Given the description of an element on the screen output the (x, y) to click on. 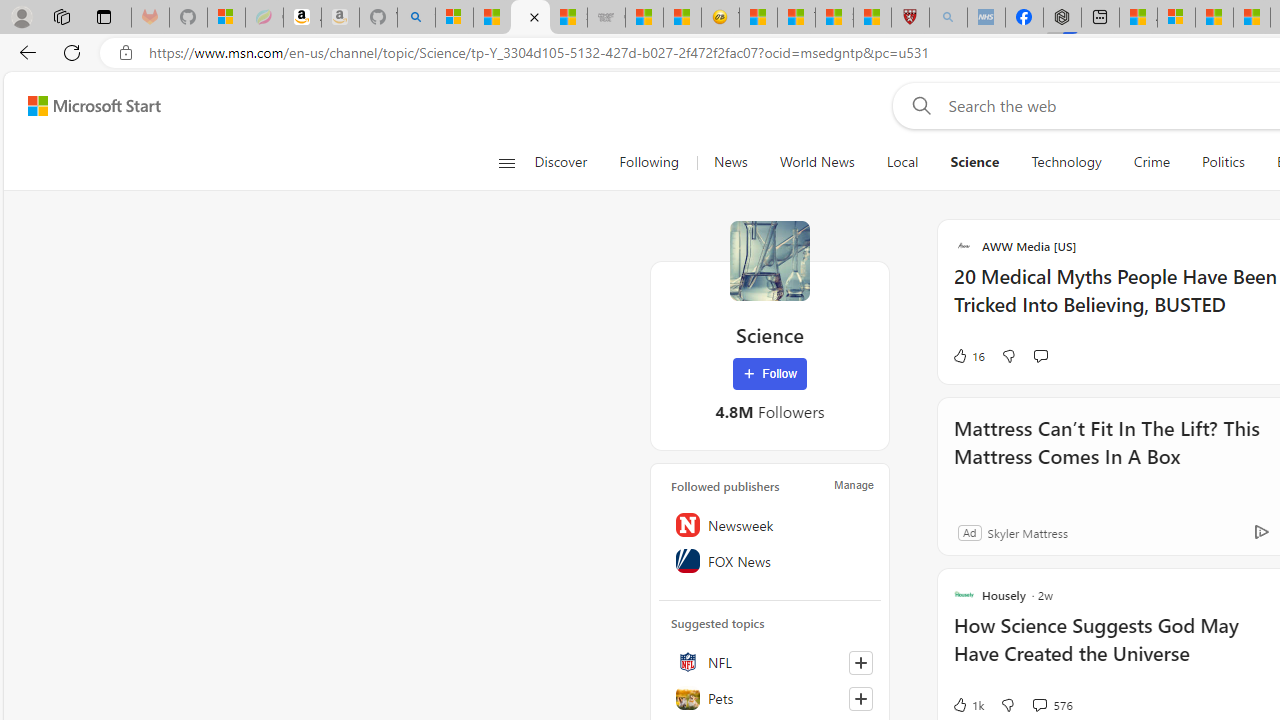
Pets (770, 697)
Skyler Mattress (1026, 532)
FOX News (770, 561)
View comments 576 Comment (1039, 704)
16 Like (968, 355)
